Given the description of an element on the screen output the (x, y) to click on. 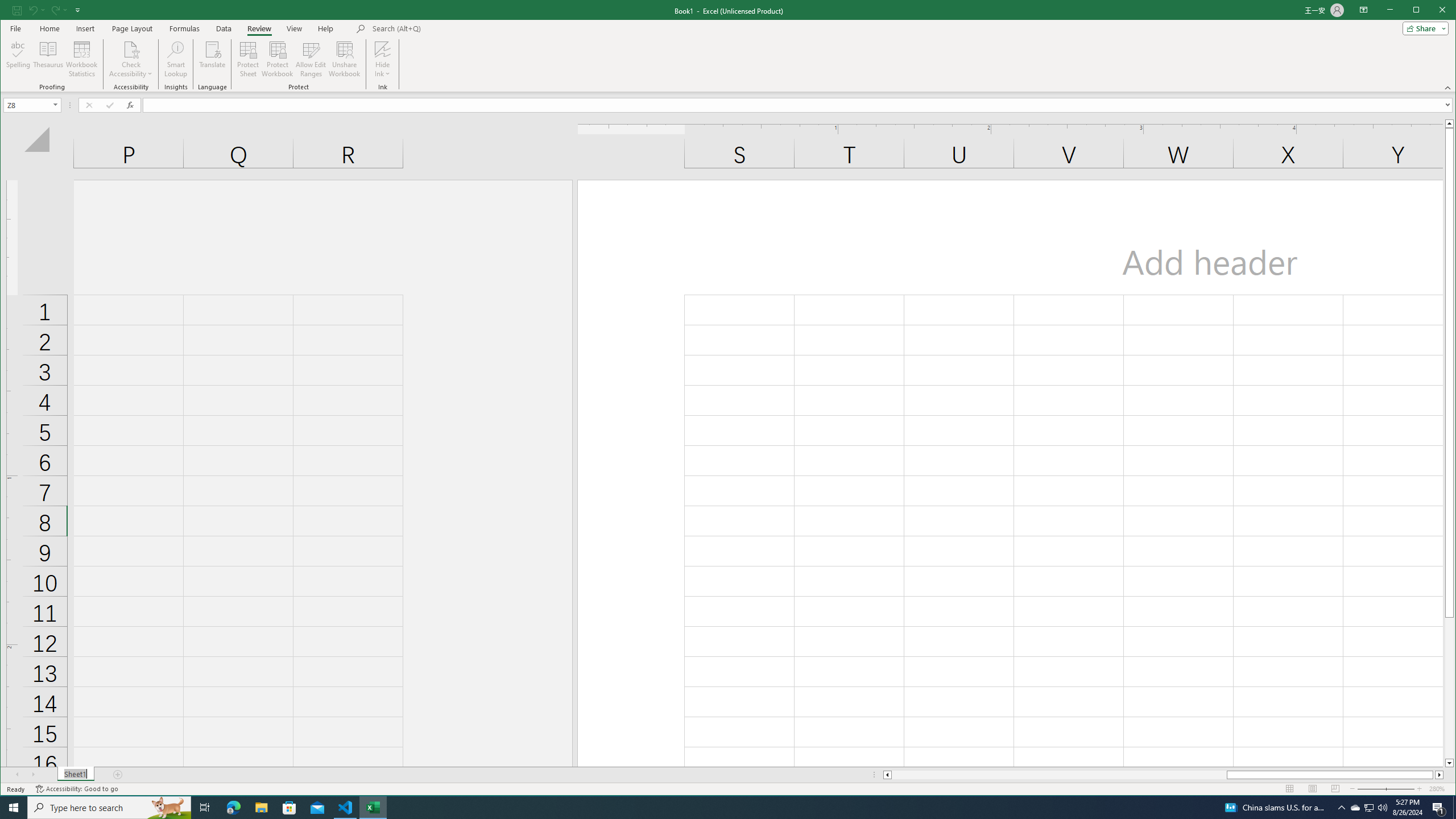
Action Center, 1 new notification (1439, 807)
Microsoft Edge (233, 807)
Thesaurus... (48, 59)
Unshare Workbook (344, 59)
Show desktop (1454, 807)
